Given the description of an element on the screen output the (x, y) to click on. 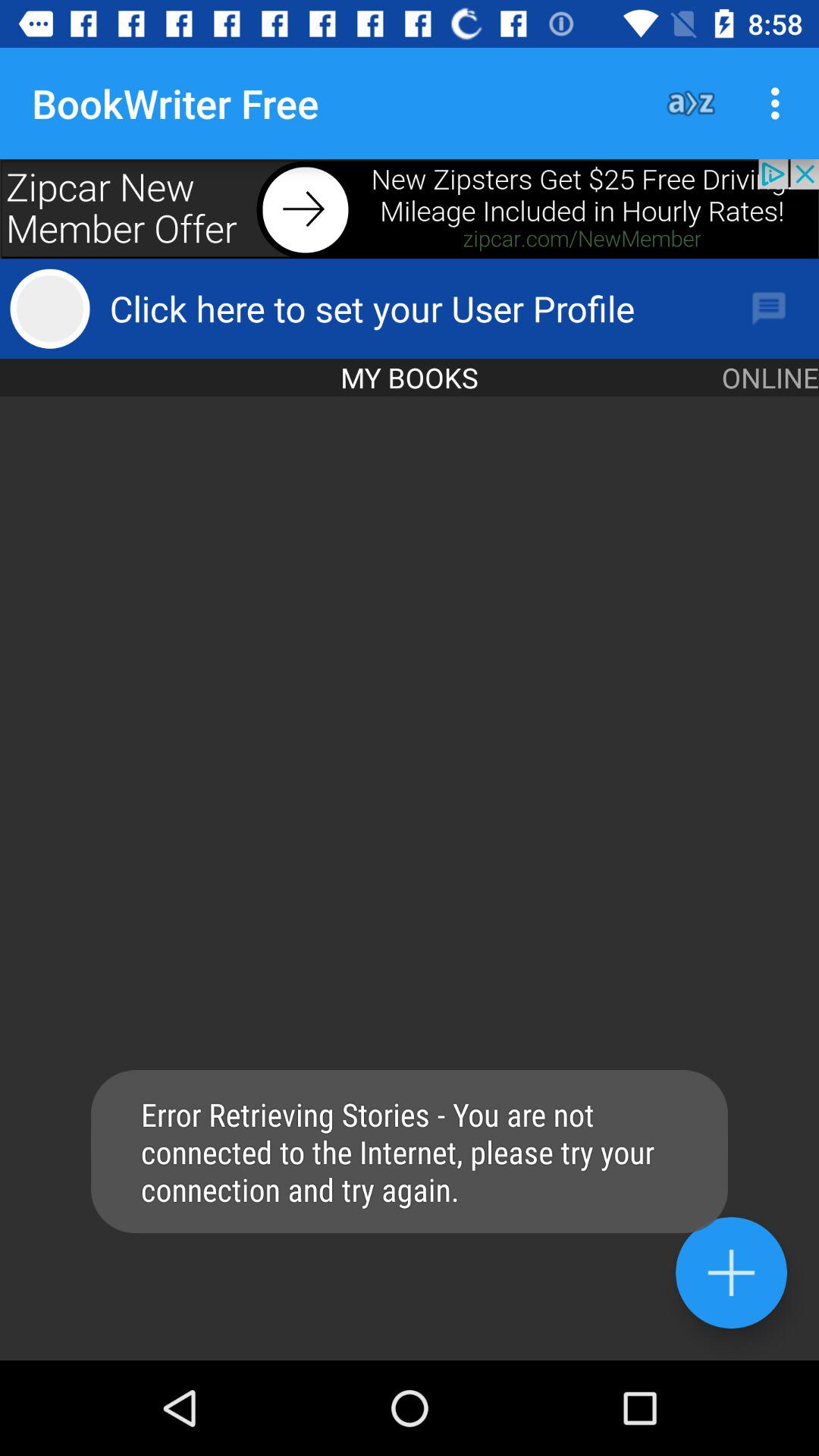
announcement (409, 208)
